Given the description of an element on the screen output the (x, y) to click on. 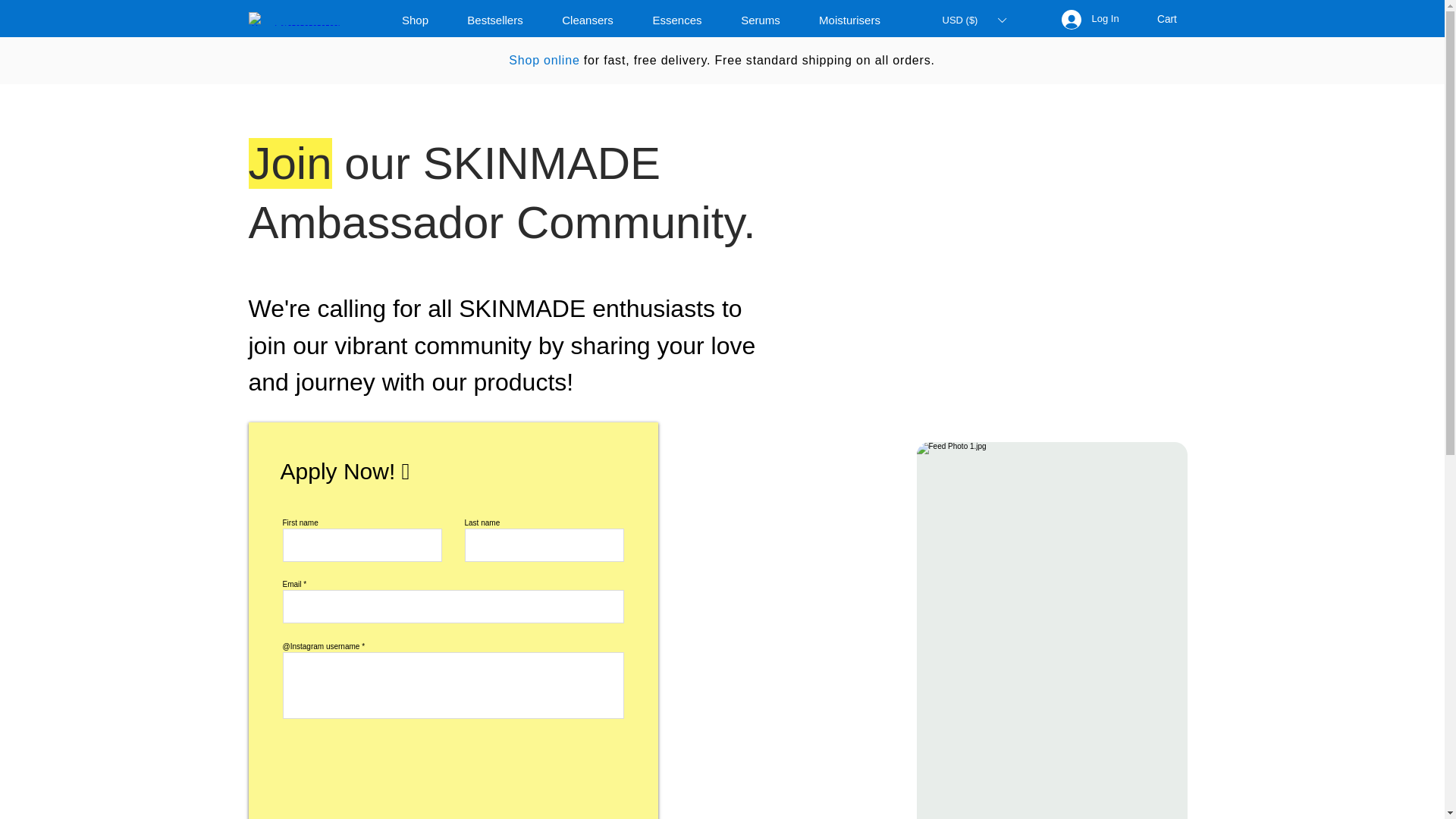
Shop (413, 20)
Serums (760, 20)
Cart (1175, 19)
Moisturisers (849, 20)
Shop online (543, 60)
Bestsellers (493, 20)
Log In (1086, 18)
Essences (675, 20)
Cart (1175, 19)
Cleansers (588, 20)
